Given the description of an element on the screen output the (x, y) to click on. 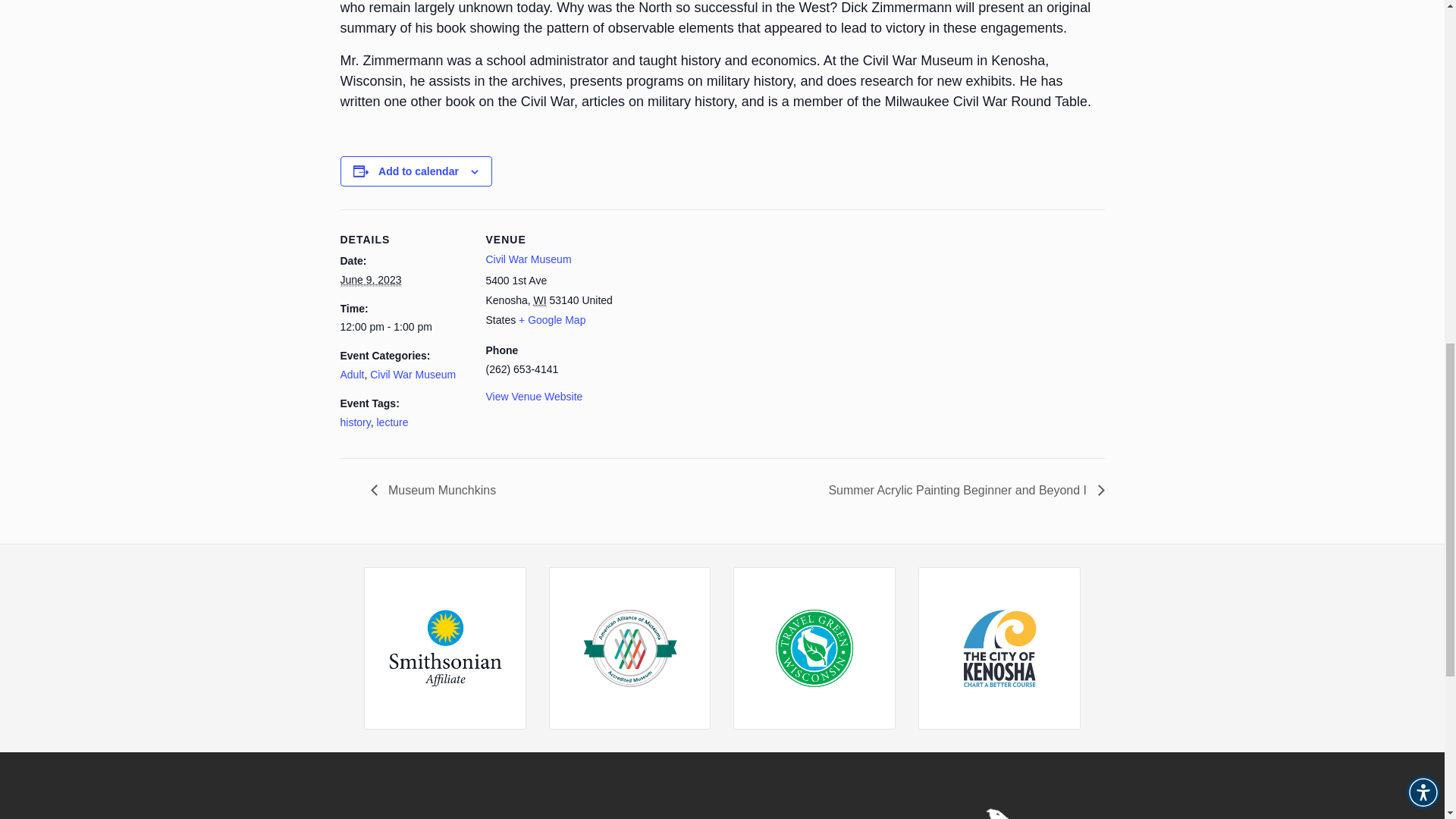
2023-06-09 (403, 327)
Click to view a Google Map (551, 319)
Wisconsin (540, 300)
2023-06-09 (370, 279)
